Given the description of an element on the screen output the (x, y) to click on. 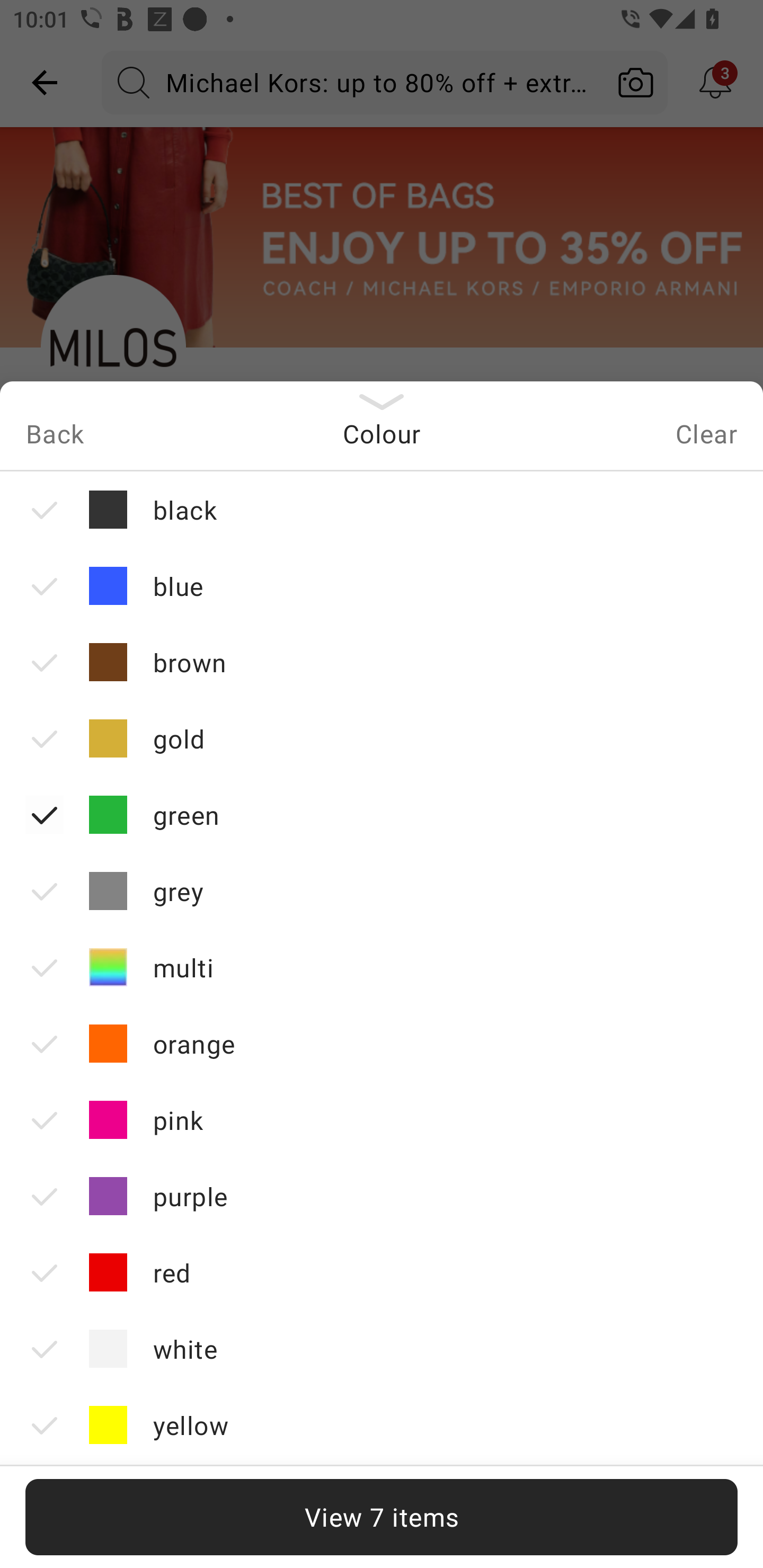
Back (54, 437)
Clear (706, 437)
black (381, 509)
blue (381, 585)
brown (381, 662)
gold (381, 738)
green (381, 814)
grey (381, 890)
multi (381, 967)
orange (381, 1043)
pink (381, 1119)
purple (381, 1196)
red (381, 1272)
white (381, 1348)
yellow (381, 1424)
View 7 items (381, 1516)
